Given the description of an element on the screen output the (x, y) to click on. 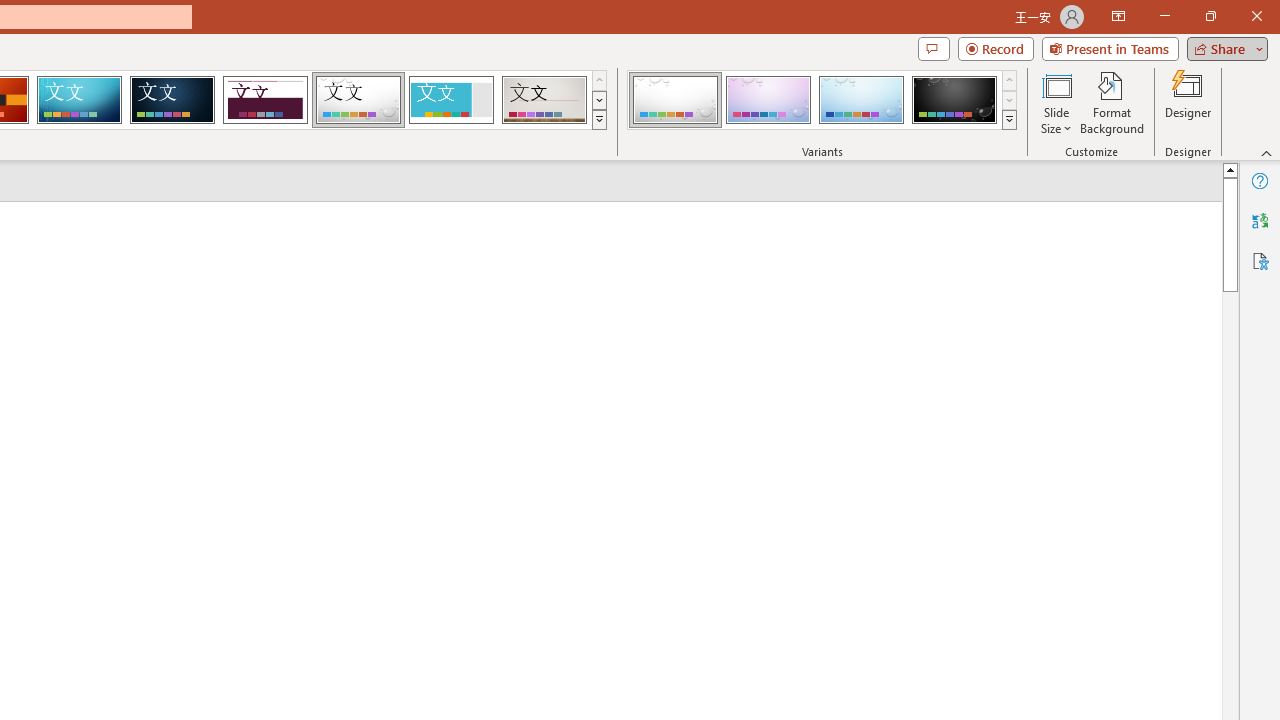
Droplet (358, 100)
